Given the description of an element on the screen output the (x, y) to click on. 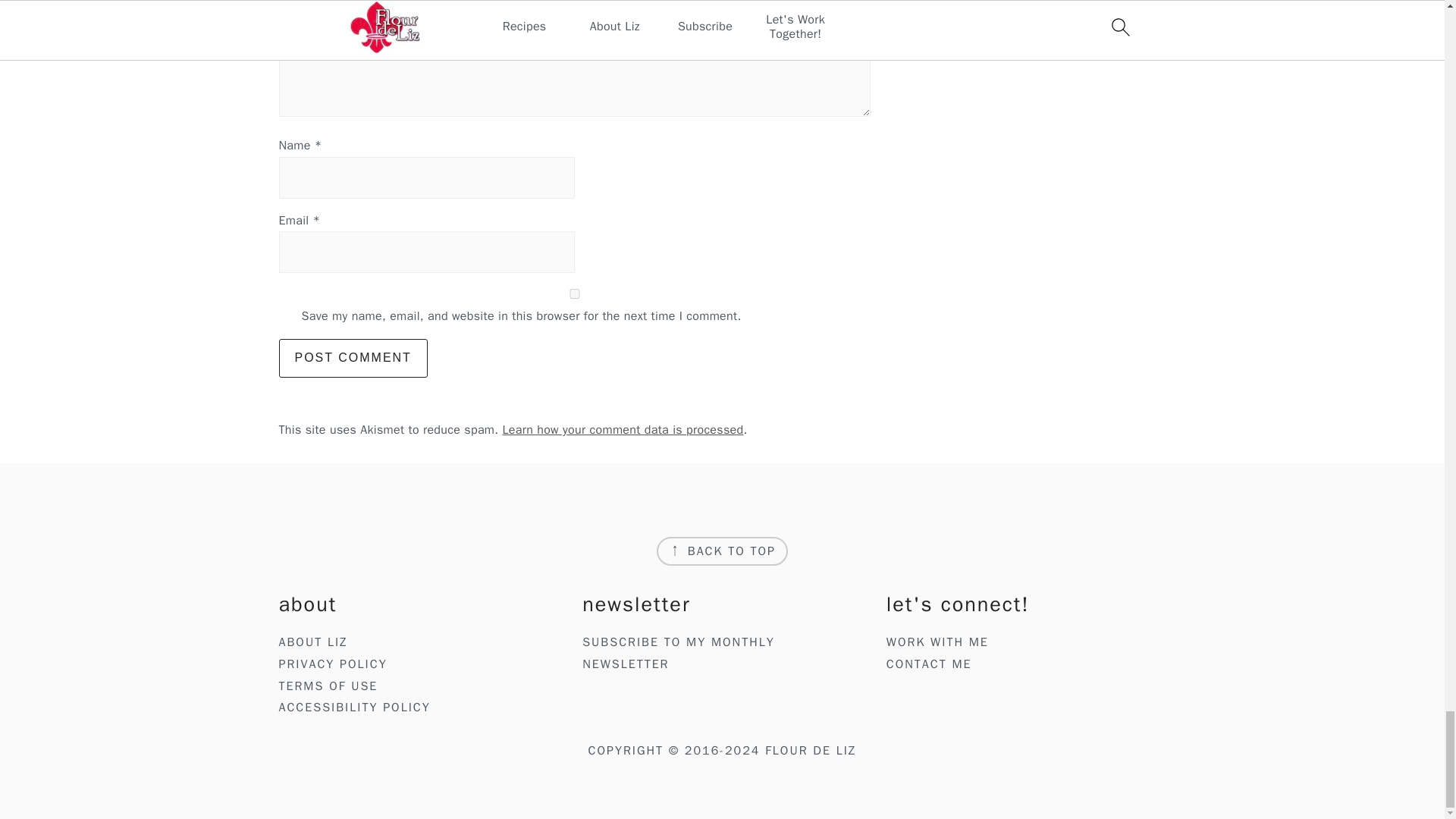
Post Comment (353, 357)
yes (574, 293)
